Given the description of an element on the screen output the (x, y) to click on. 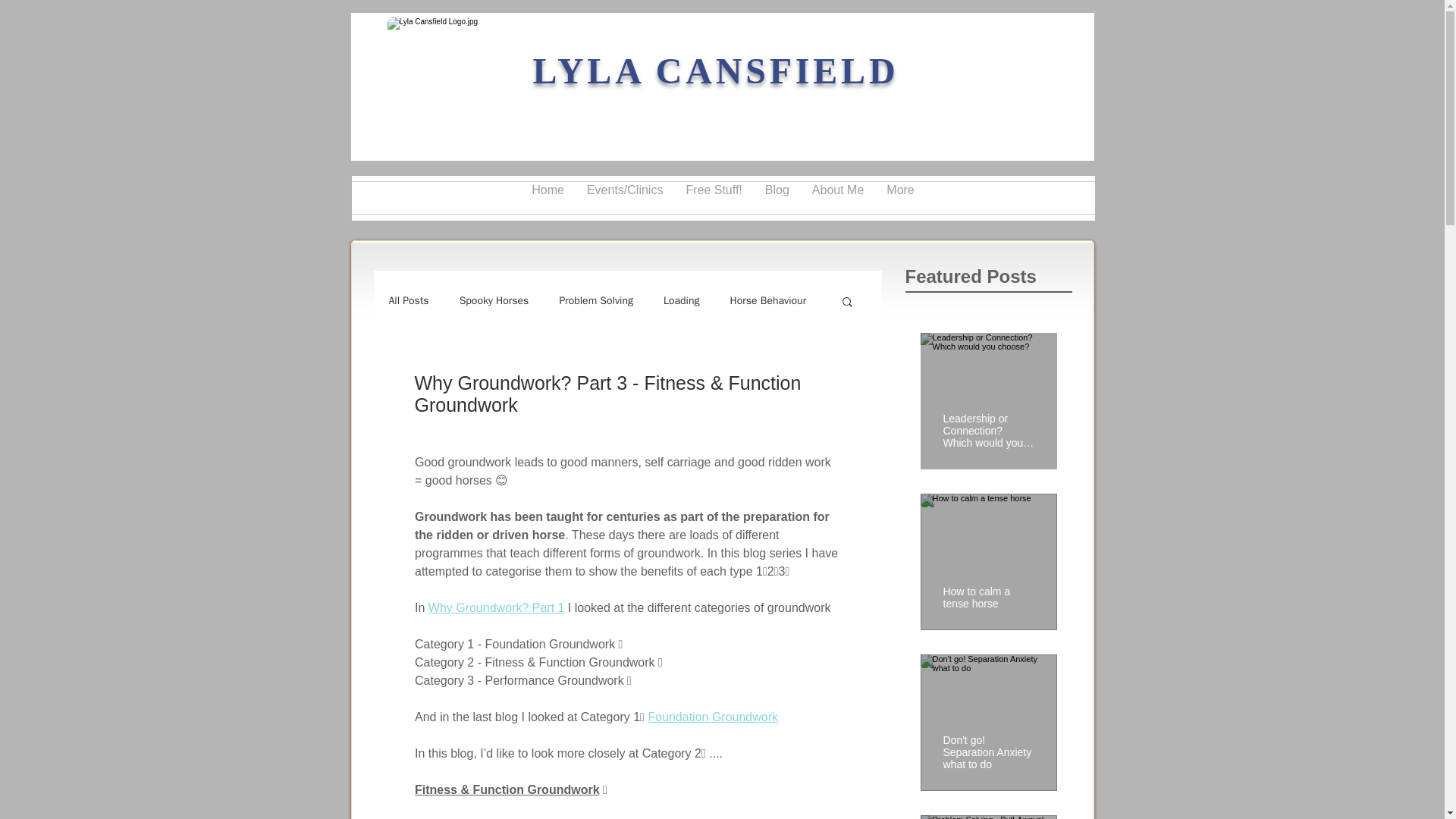
Why Groundwork? Part 1 (496, 607)
All Posts (408, 300)
Don't go! Separation Anxiety what to do (988, 745)
Foundation Groundwork (712, 716)
Home (547, 197)
LYLA CANSFIELD (715, 70)
Leadership or Connection? Which would you choose? (988, 423)
Spooky Horses (494, 300)
Problem Solving (596, 300)
Loading (681, 300)
